Given the description of an element on the screen output the (x, y) to click on. 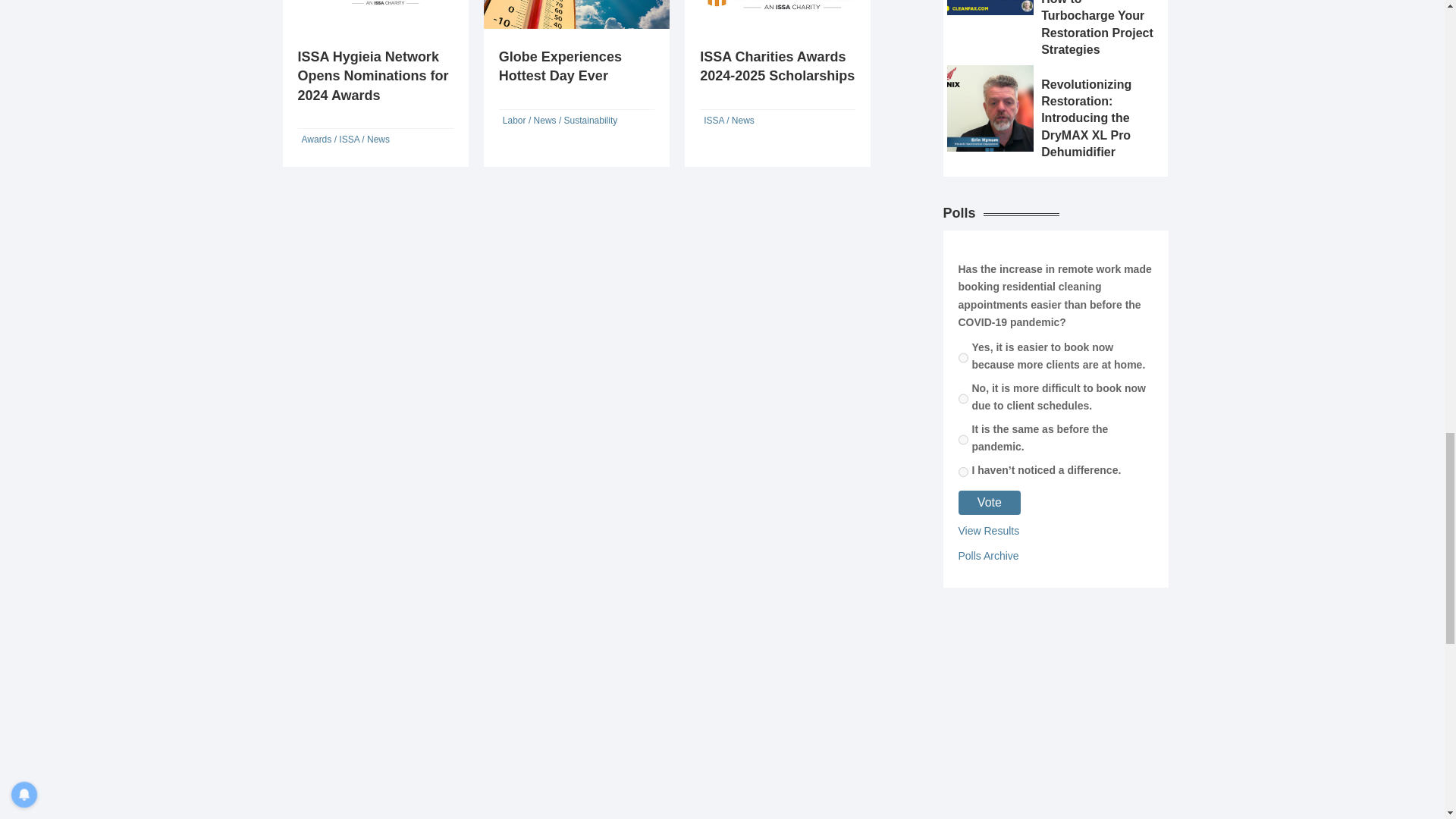
   Vote    (990, 502)
